Given the description of an element on the screen output the (x, y) to click on. 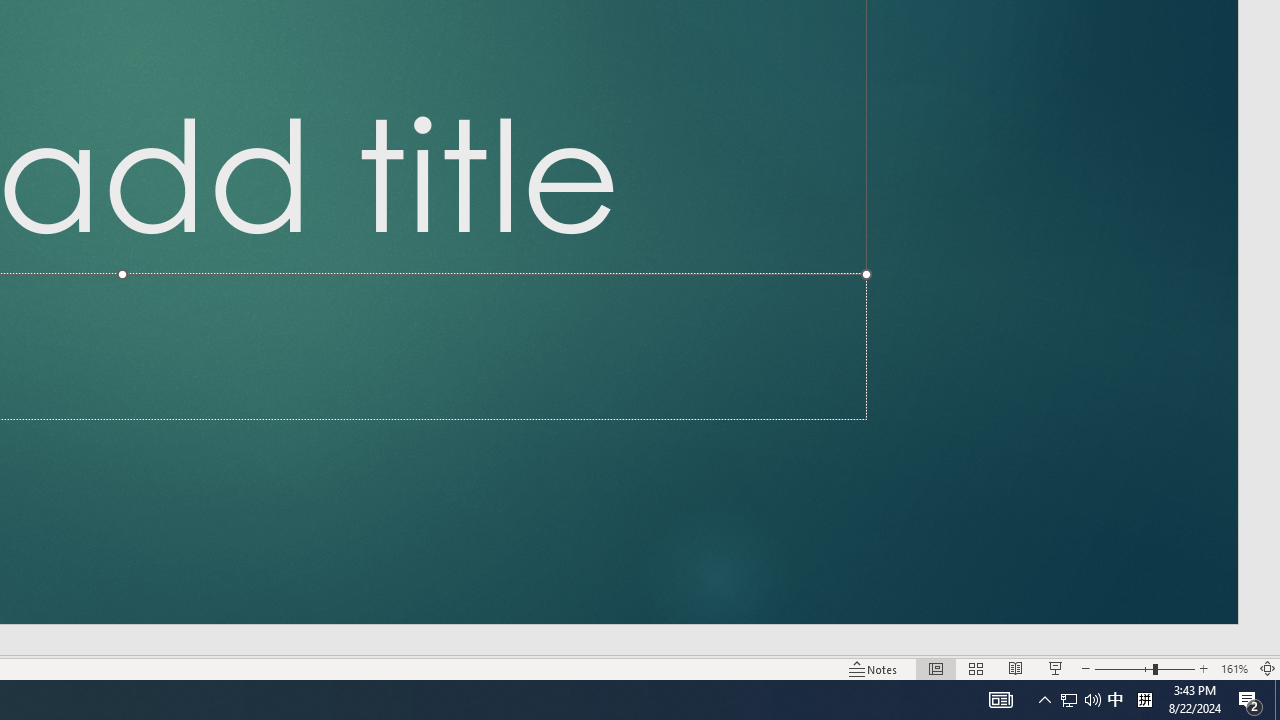
Zoom 161% (1234, 668)
